Given the description of an element on the screen output the (x, y) to click on. 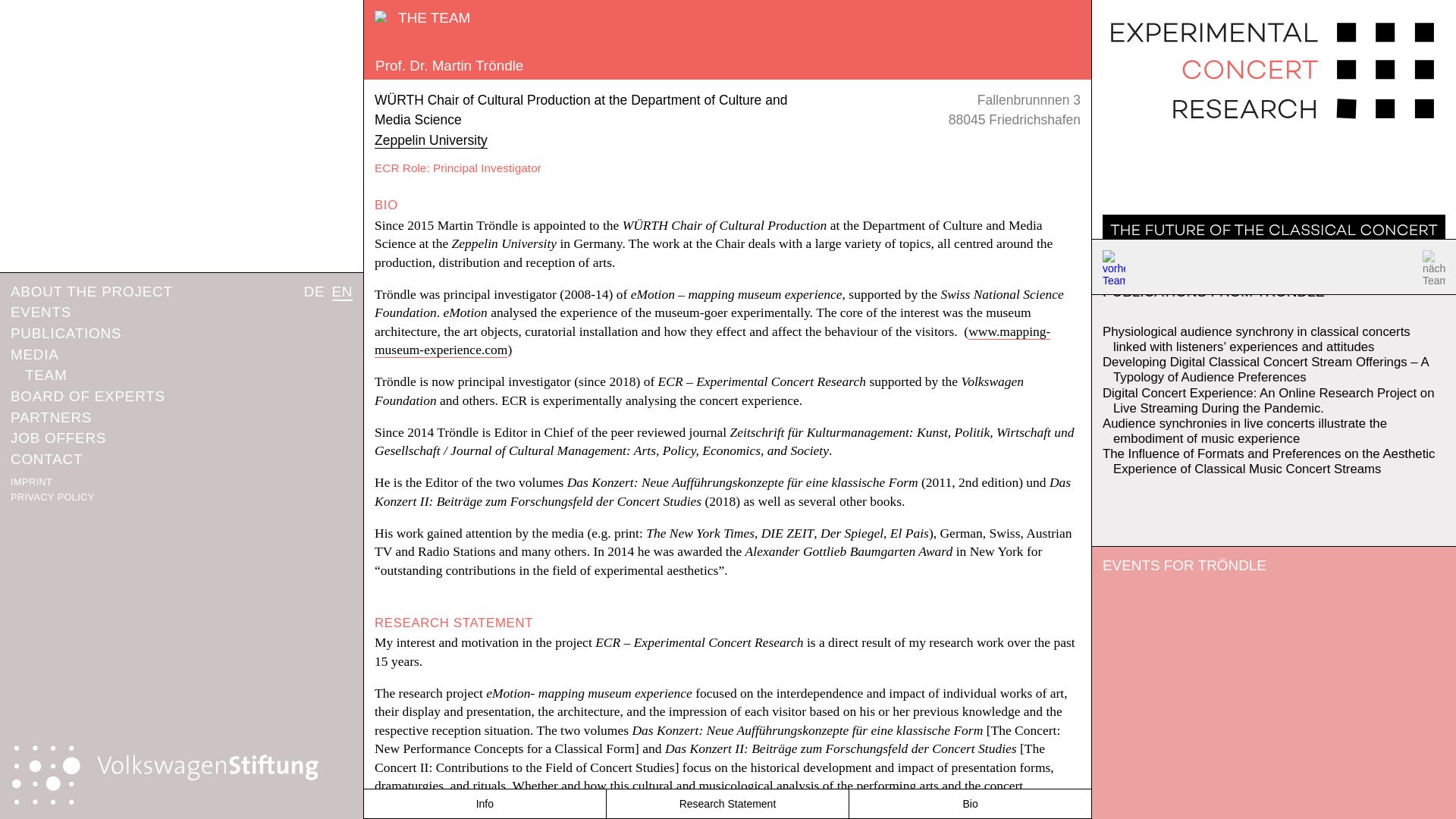
ABOUT THE PROJECT (91, 291)
PRIVACY POLICY (52, 497)
IMPRINT (31, 481)
JOB OFFERS (58, 437)
EVENTS (40, 311)
TEAM (45, 374)
CONTACT (46, 458)
MEDIA (34, 354)
THE TEAM (422, 17)
Info (484, 803)
